Given the description of an element on the screen output the (x, y) to click on. 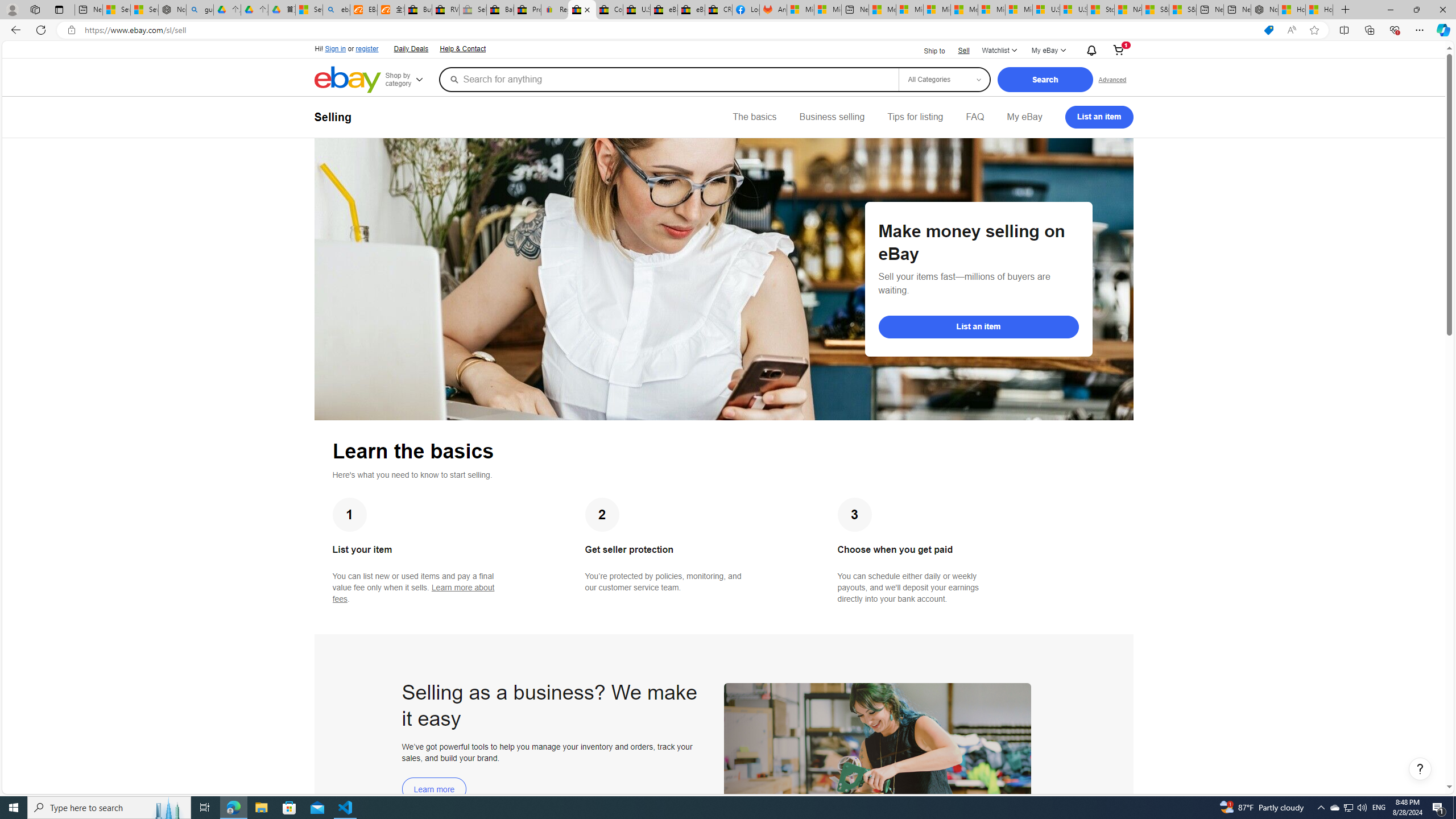
Register: Create a personal eBay account (554, 9)
eBay Home (347, 79)
Watchlist (998, 50)
Press Room - eBay Inc. (527, 9)
Tips for listing (914, 116)
Ship to (927, 50)
